Given the description of an element on the screen output the (x, y) to click on. 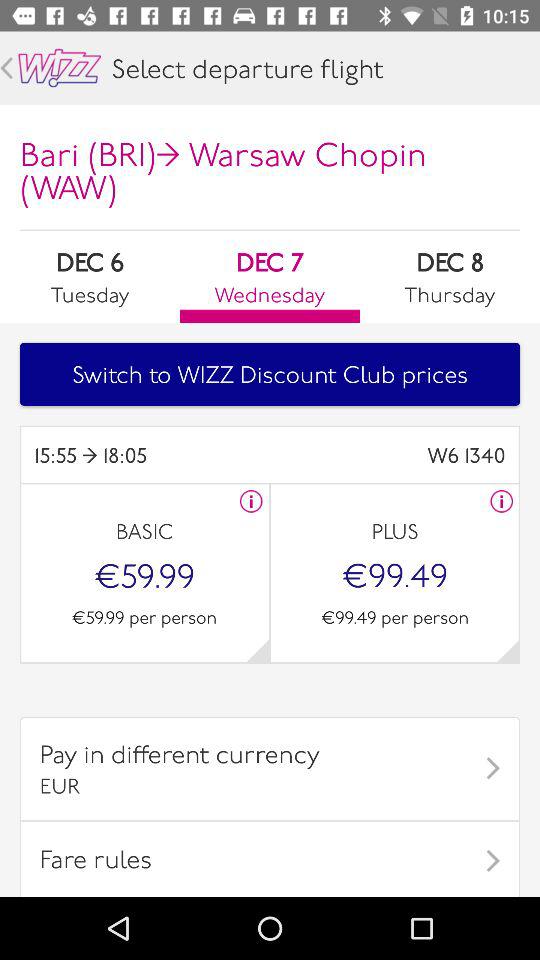
show fare information (501, 501)
